Given the description of an element on the screen output the (x, y) to click on. 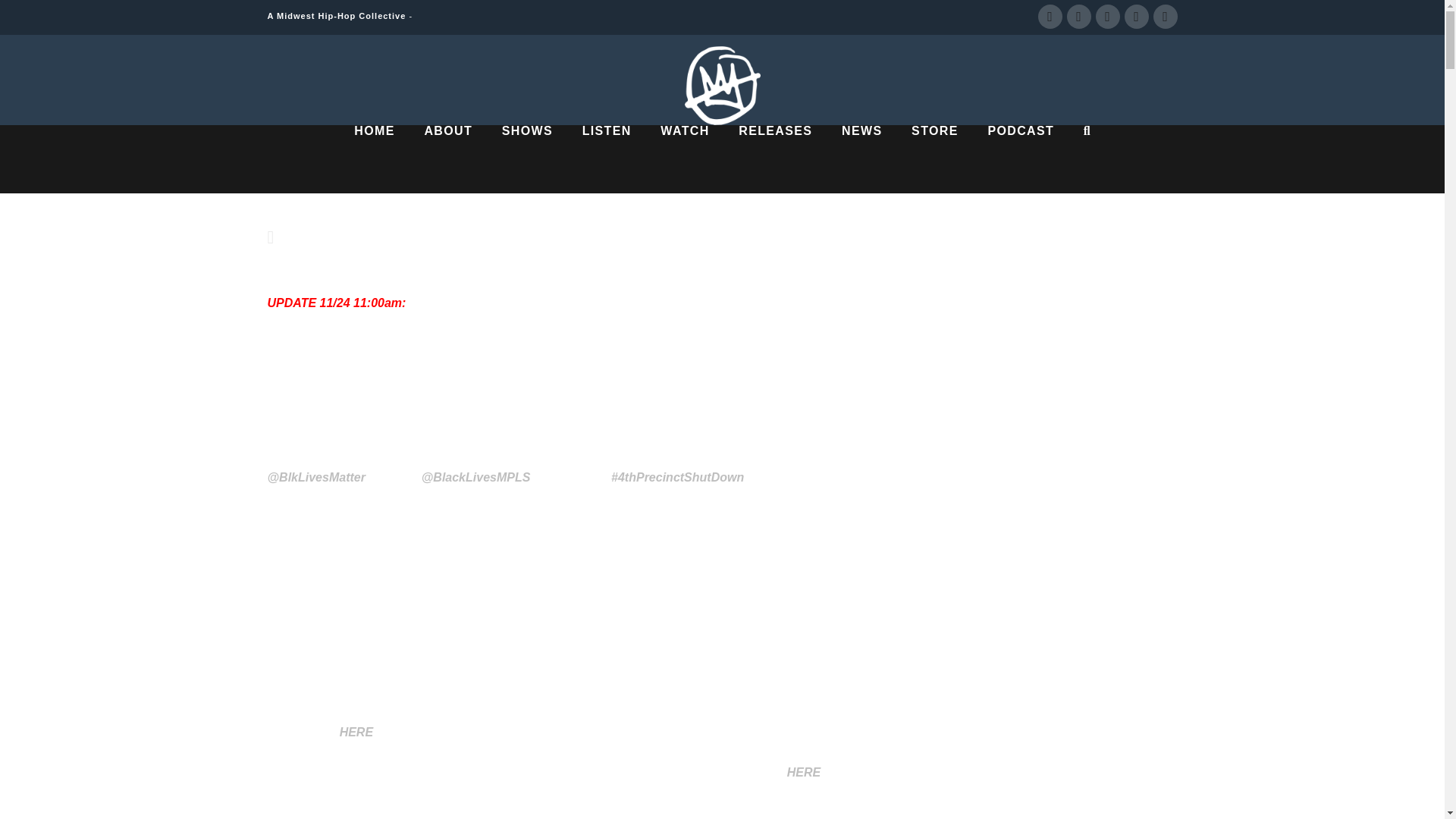
Twitter (1077, 16)
YouTube (1106, 16)
WATCH (684, 159)
Instagram (1136, 16)
LISTEN (606, 159)
Facebook (1048, 16)
NEWS (861, 159)
HERE (804, 771)
PODCAST (1019, 159)
SoundCloud (1164, 16)
SHOWS (526, 159)
ABOUT (447, 159)
STORE (934, 159)
HERE (355, 731)
RELEASES (775, 159)
